Given the description of an element on the screen output the (x, y) to click on. 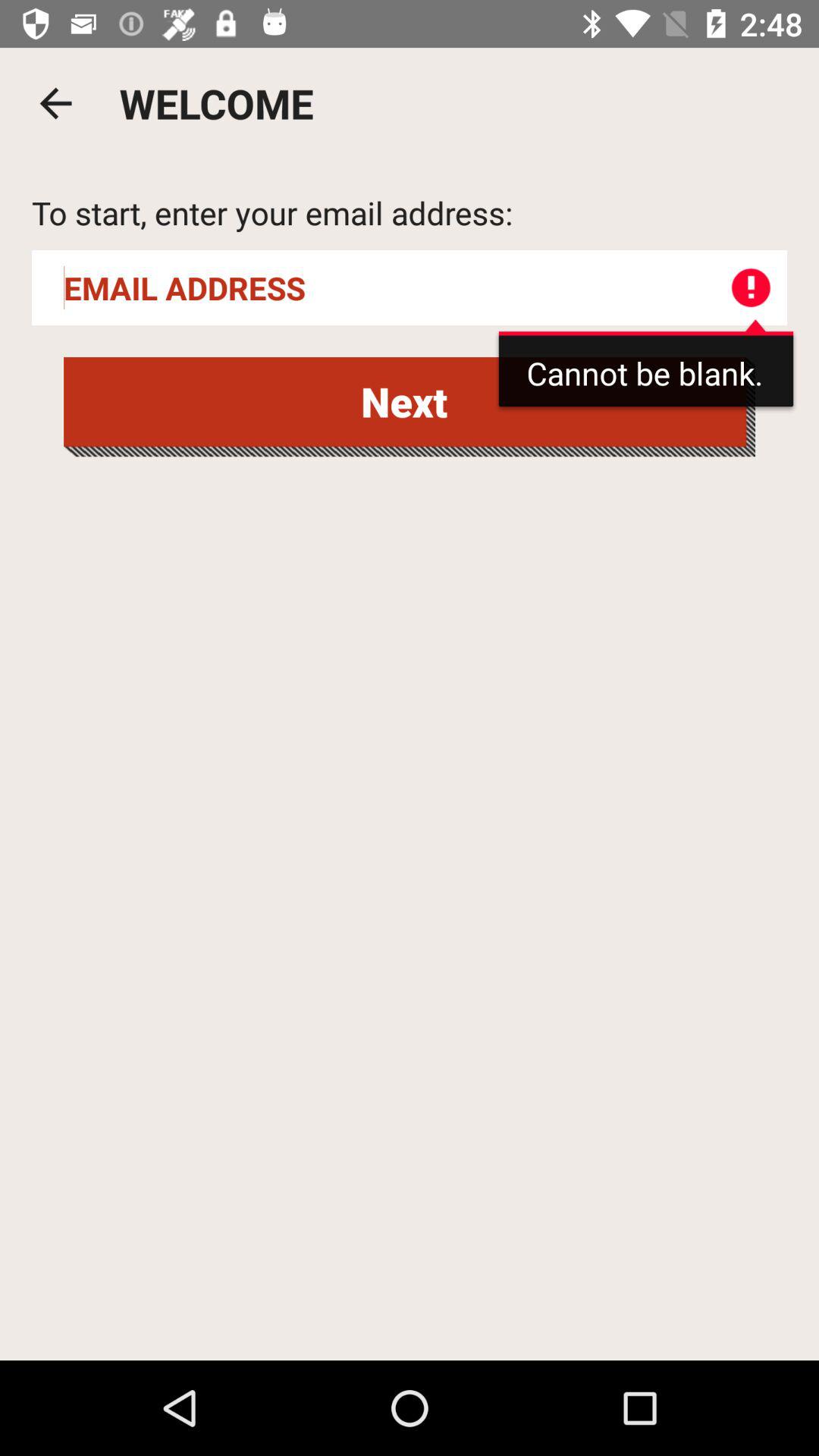
enter the email address (409, 287)
